Given the description of an element on the screen output the (x, y) to click on. 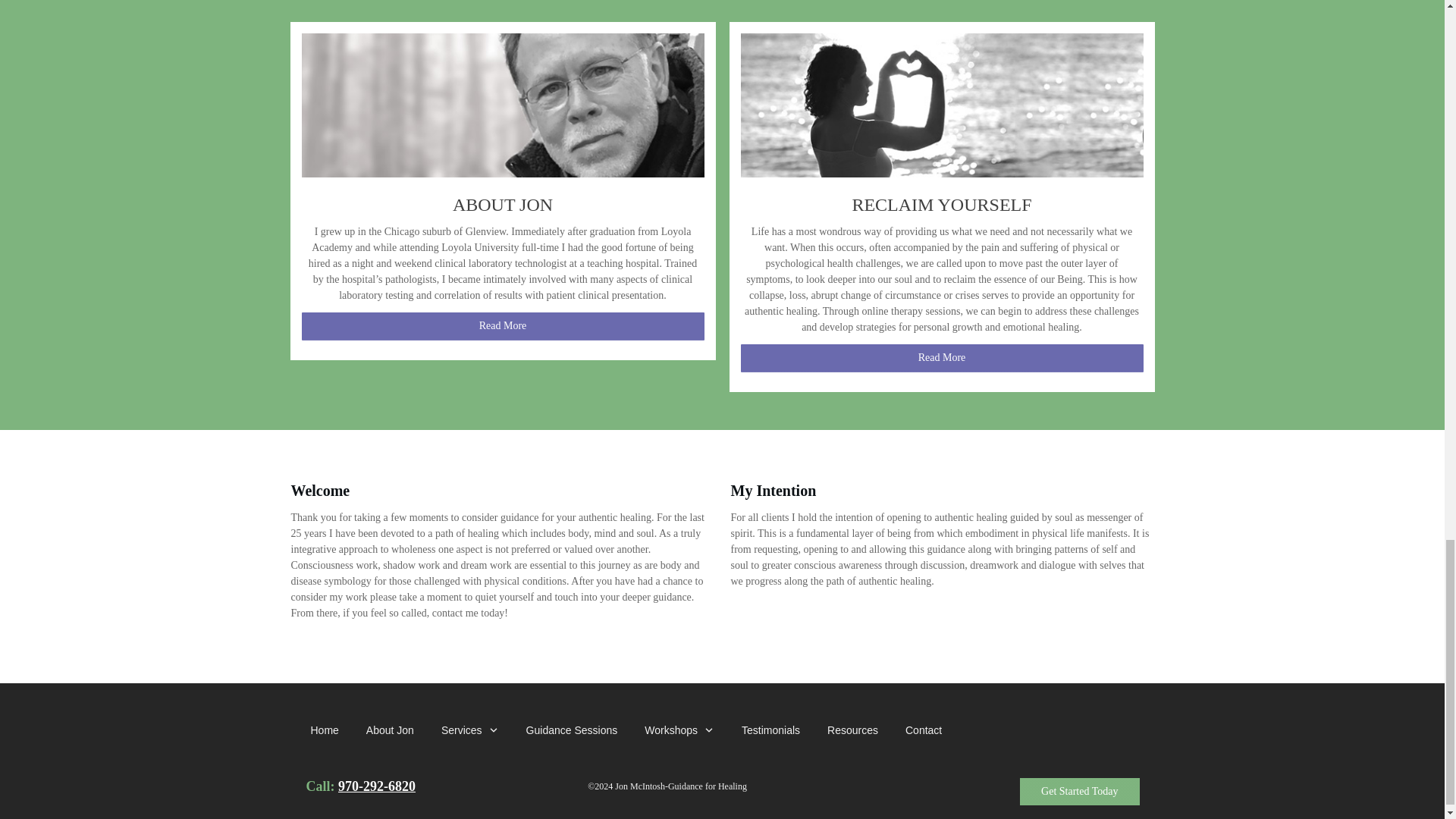
Reclaim Yourself (940, 105)
cta4 (502, 105)
